Given the description of an element on the screen output the (x, y) to click on. 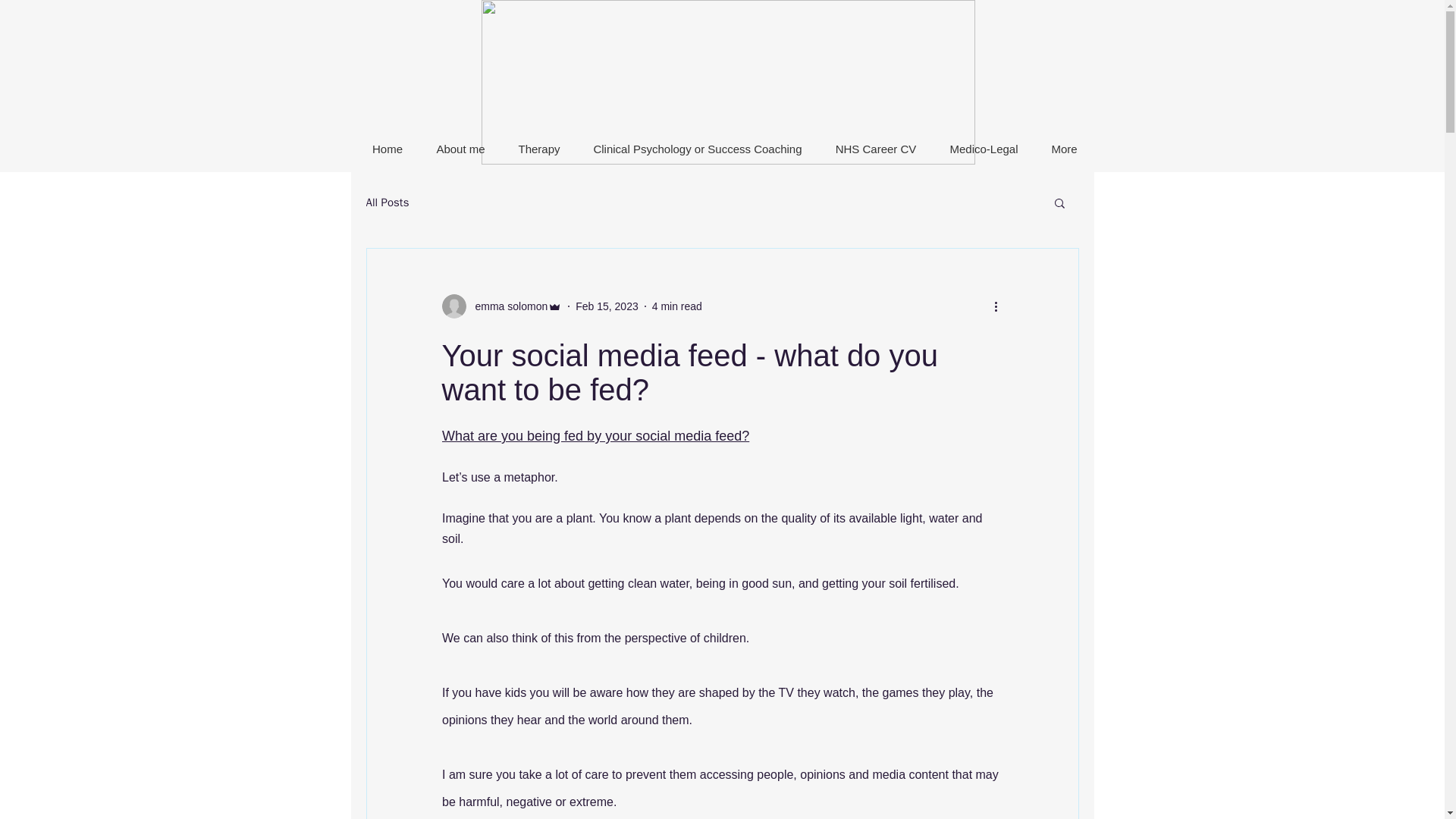
NHS Career CV (875, 148)
Medico-Legal (983, 148)
Therapy (539, 148)
Feb 15, 2023 (607, 306)
emma solomon (506, 306)
Home (387, 148)
All Posts (387, 202)
emma solomon (501, 306)
About me (461, 148)
Clinical Psychology or Success Coaching (697, 148)
